Given the description of an element on the screen output the (x, y) to click on. 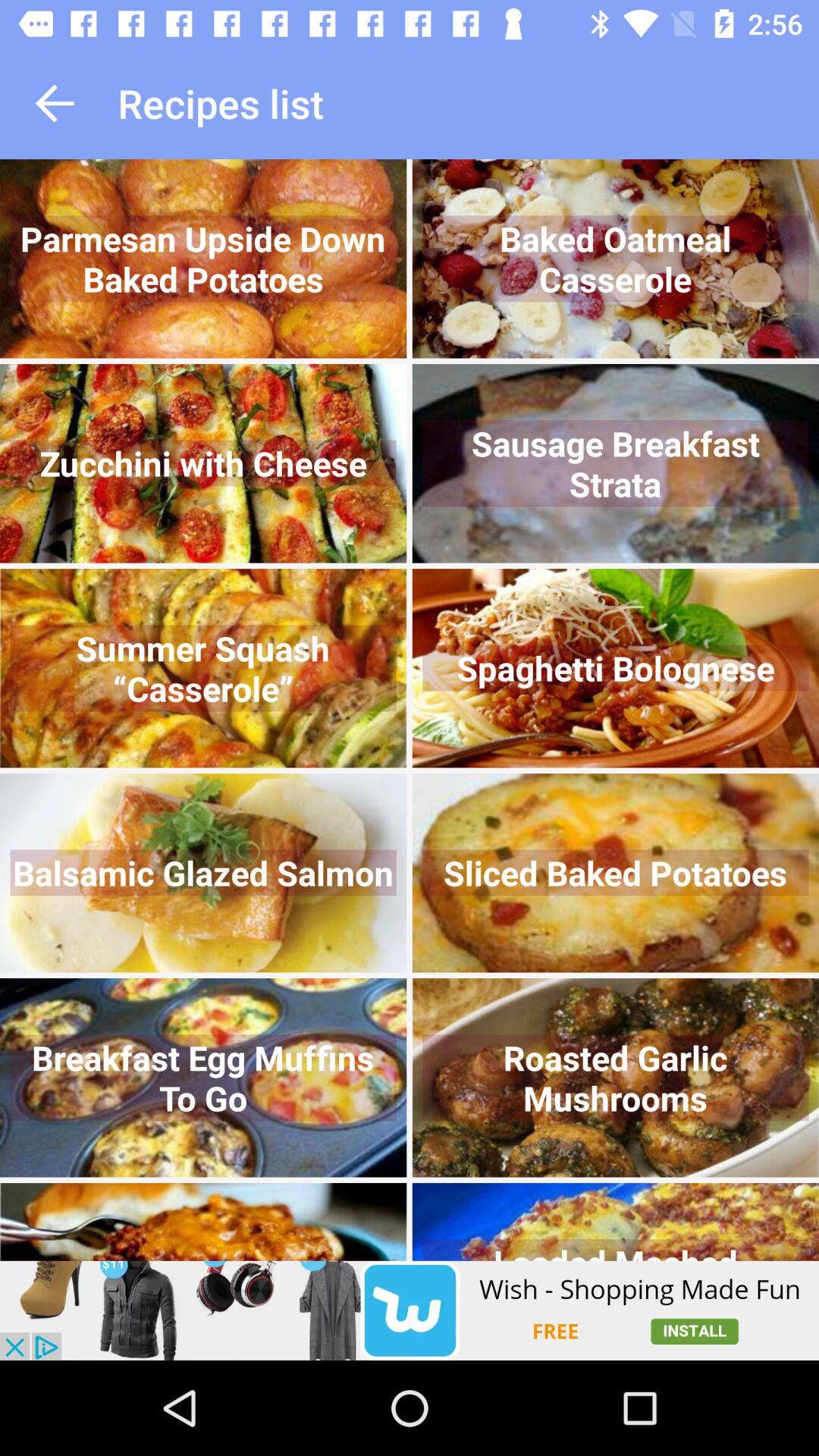
click on wish advertisement (409, 1310)
